Given the description of an element on the screen output the (x, y) to click on. 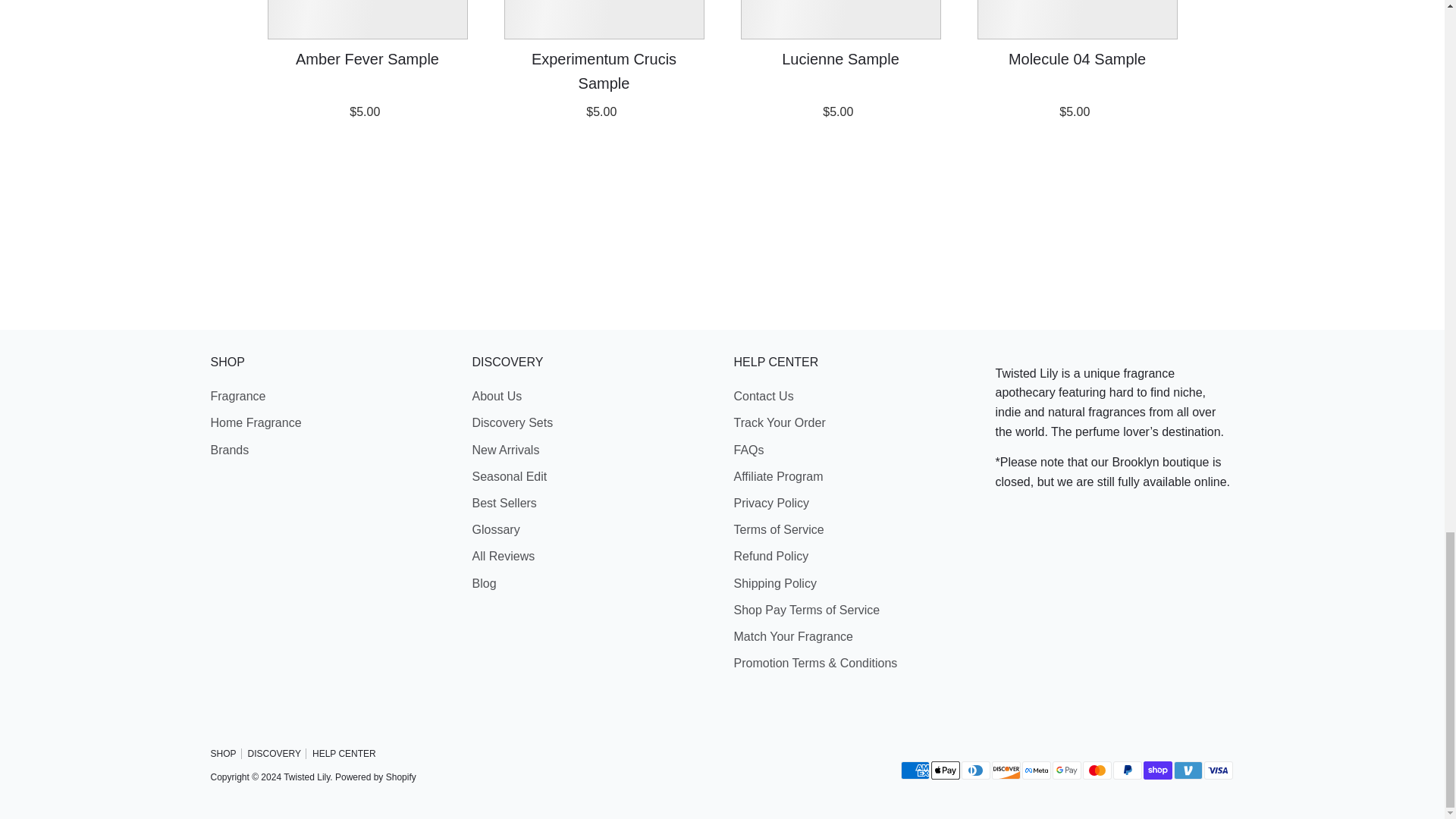
Diners Club (975, 770)
Meta Pay (1036, 770)
Discover (1005, 770)
Apple Pay (945, 770)
Venmo (1187, 770)
PayPal (1127, 770)
Shop Pay (1157, 770)
Google Pay (1066, 770)
Visa (1218, 770)
American Express (915, 770)
Mastercard (1097, 770)
